Given the description of an element on the screen output the (x, y) to click on. 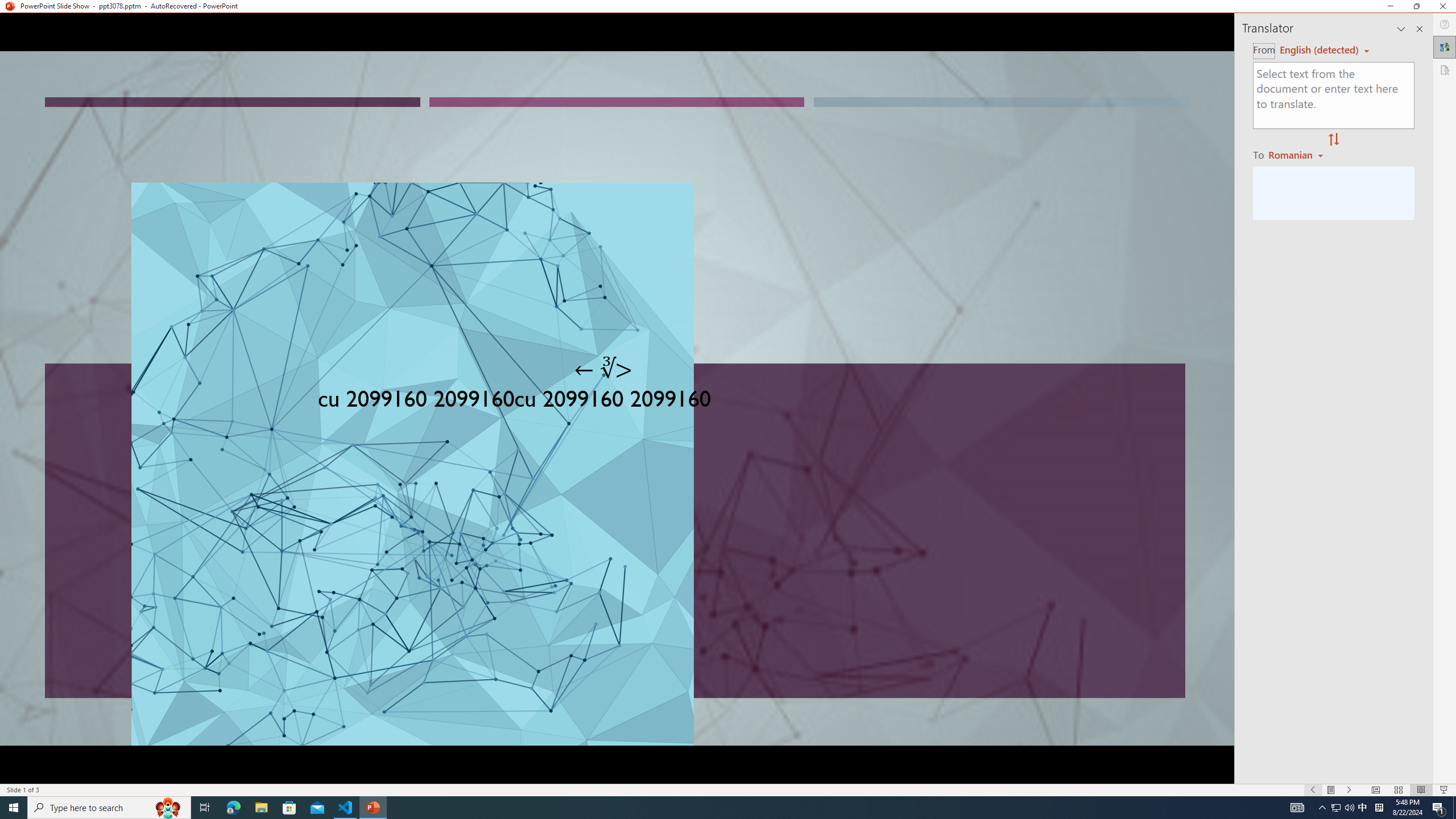
Romanian (1296, 154)
Slide Show Next On (1349, 790)
Menu On (1331, 790)
Slide Show Previous On (1313, 790)
